Given the description of an element on the screen output the (x, y) to click on. 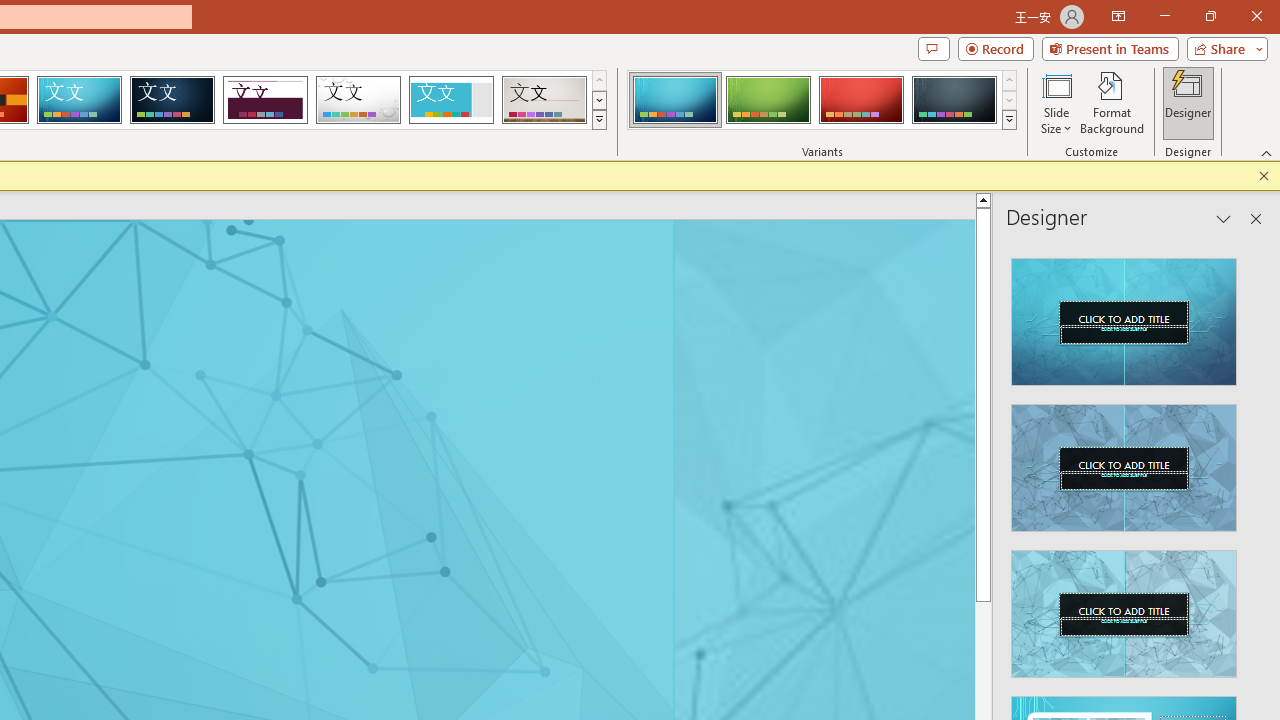
Frame (450, 100)
Format Background (1111, 102)
Close this message (1263, 176)
